Given the description of an element on the screen output the (x, y) to click on. 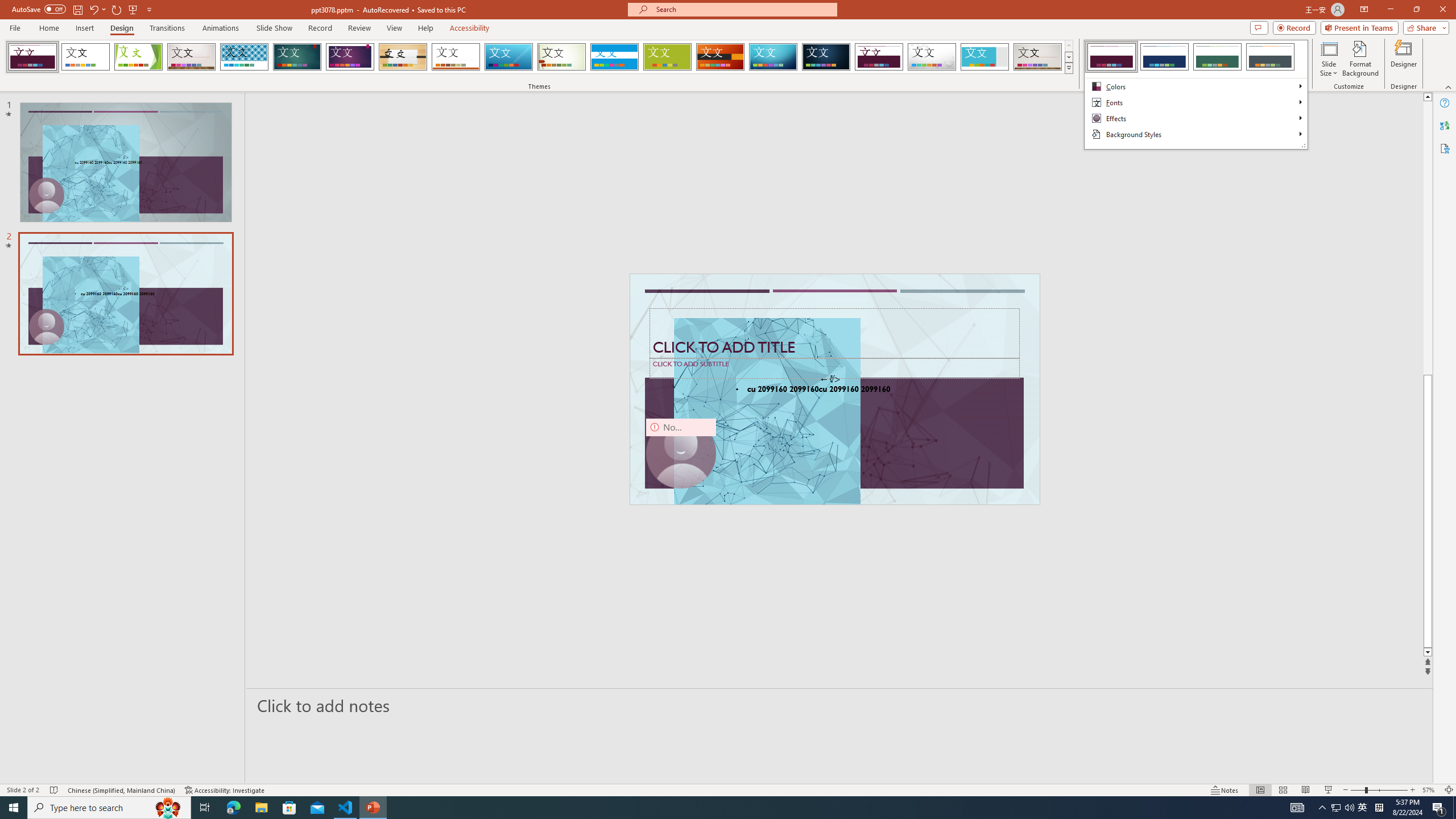
TextBox 61 (833, 390)
Type here to search (108, 807)
Facet (138, 56)
Dividend (879, 56)
File Explorer (261, 807)
Show desktop (1454, 807)
User Promoted Notification Area (1342, 807)
Subtitle TextBox (834, 367)
Office Theme (85, 56)
